Given the description of an element on the screen output the (x, y) to click on. 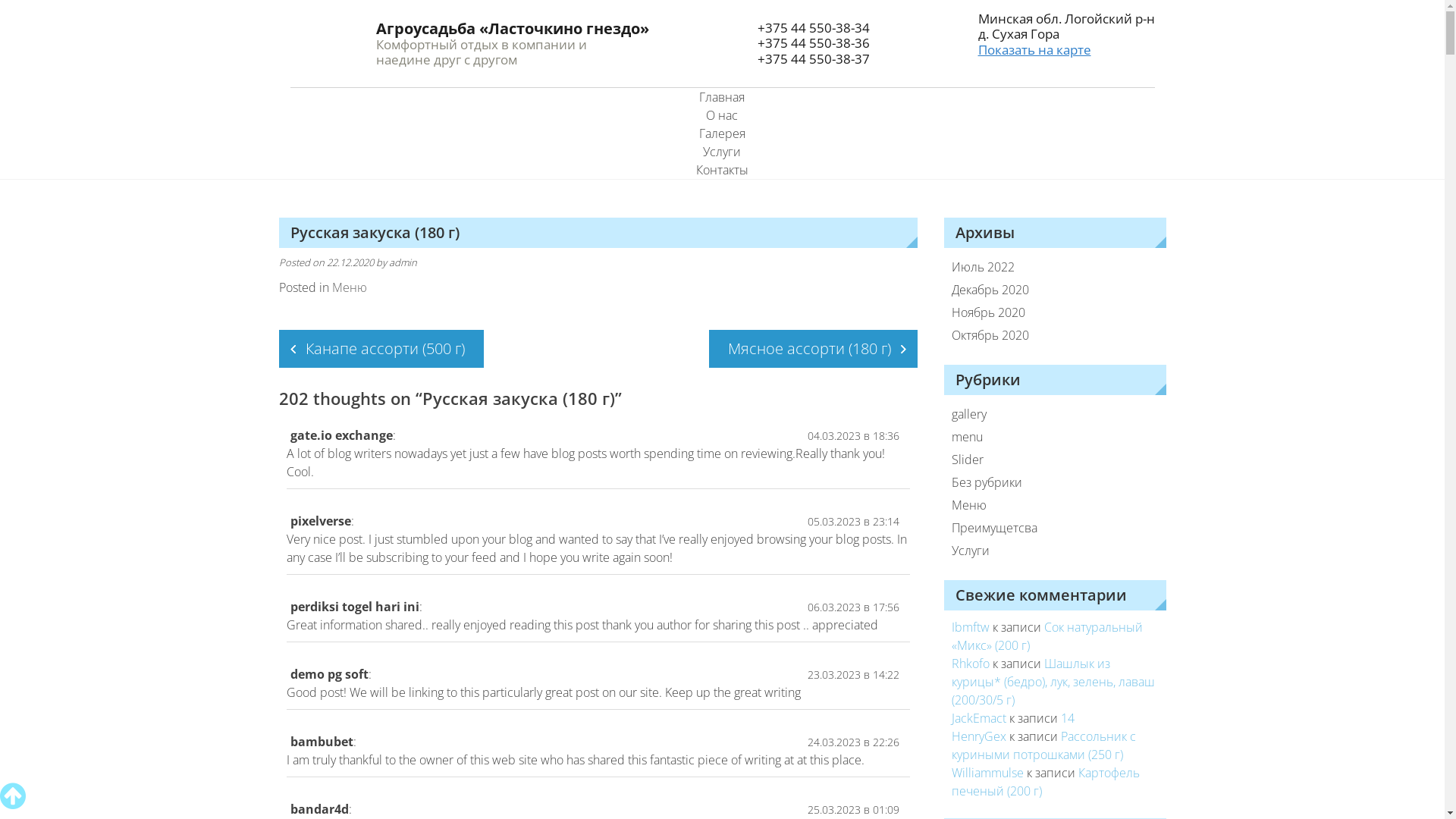
14 Element type: text (1067, 717)
Rhkofo Element type: text (970, 663)
+375 44 550-38-34 Element type: text (812, 27)
JackEmact Element type: text (978, 717)
Ibmftw Element type: text (970, 626)
gate.io exchange Element type: text (340, 434)
22.12.2020 Element type: text (349, 262)
menu Element type: text (1044, 436)
admin Element type: text (402, 262)
bandar4d Element type: text (318, 808)
Slider Element type: text (1044, 459)
HenryGex Element type: text (978, 736)
pixelverse Element type: text (319, 520)
+375 44 550-38-36 Element type: text (812, 42)
bambubet Element type: text (320, 741)
demo pg soft Element type: text (328, 673)
Williammulse Element type: text (987, 772)
+375 44 550-38-37 Element type: text (812, 58)
gallery Element type: text (1044, 413)
perdiksi togel hari ini Element type: text (353, 606)
